Given the description of an element on the screen output the (x, y) to click on. 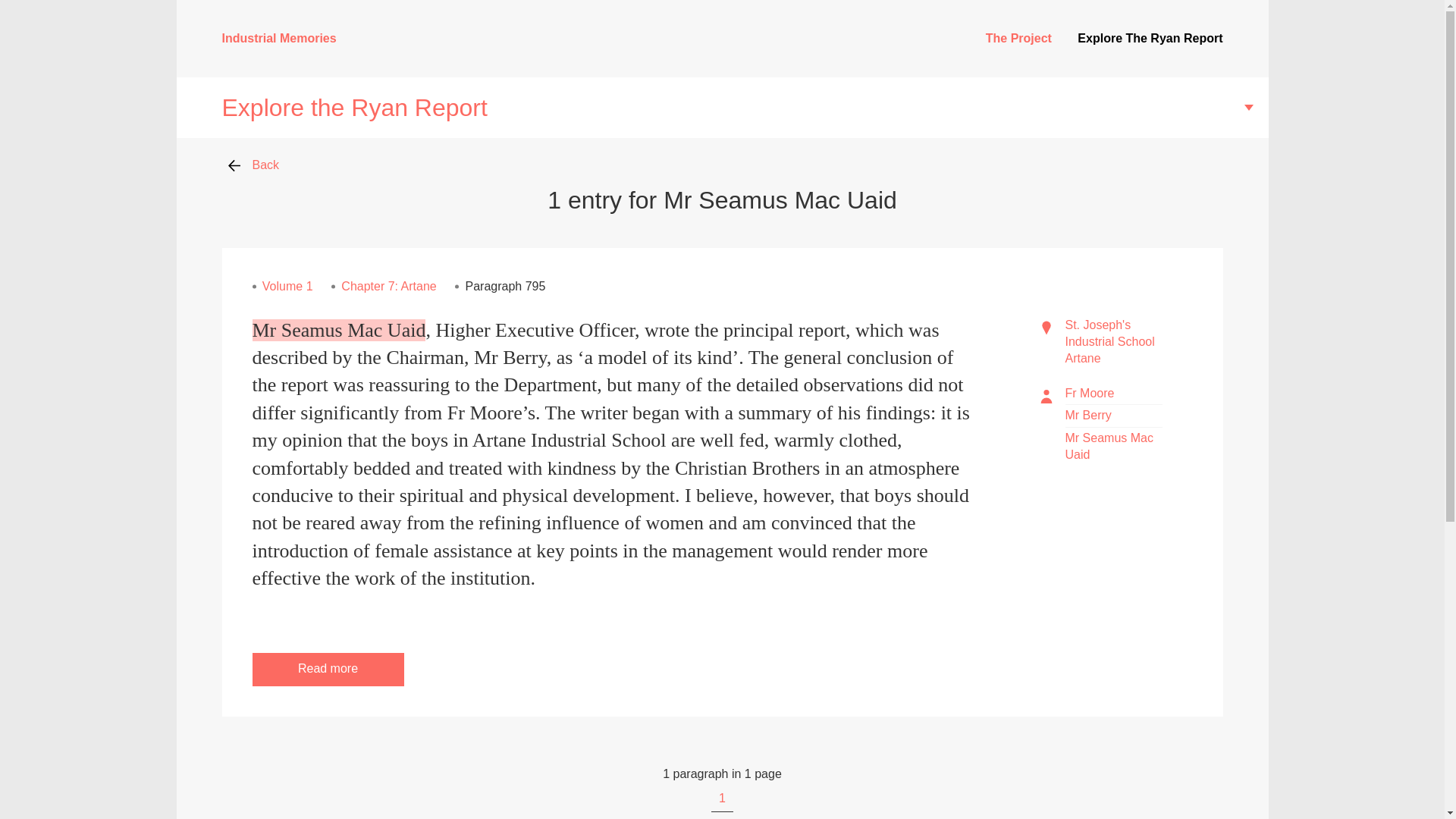
Volume 1 (287, 286)
Back (257, 165)
St. Joseph's Industrial School Artane (1109, 341)
Industrial Memories (278, 38)
Explore The Ryan Report (1150, 38)
Mr Berry (1087, 414)
Mr Seamus Mac Uaid (1108, 446)
Fr Moore (1088, 392)
Chapter 7: Artane (387, 286)
Explore the Ryan Report (722, 107)
Read more (327, 668)
The Project (1018, 38)
